Given the description of an element on the screen output the (x, y) to click on. 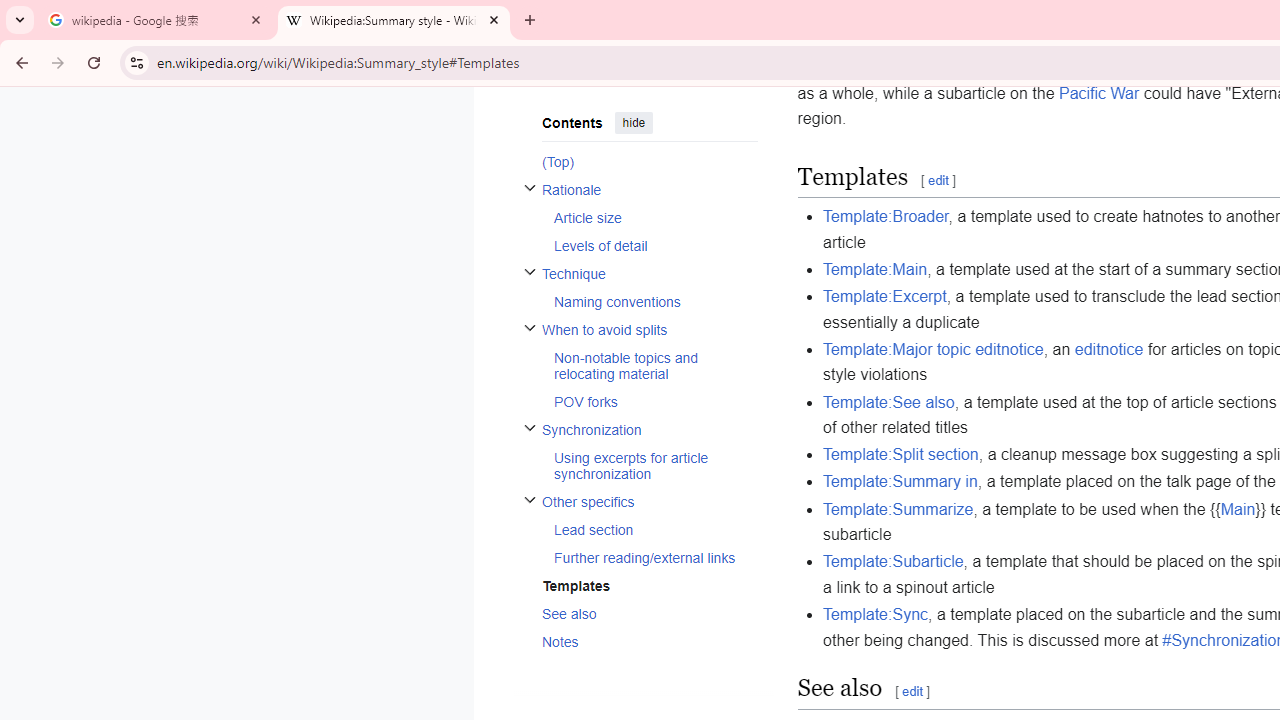
AutomationID: toc-Further_reading/external_links (649, 556)
Main (1237, 508)
AutomationID: toc-Naming_conventions (649, 301)
Notes (649, 641)
AutomationID: toc-Synchronization (642, 451)
Template:Summary in (900, 482)
AutomationID: toc-See_also (642, 613)
Template:Major topic editnotice (933, 348)
Template:Summarize (898, 508)
Rationale (649, 188)
Lead section (654, 529)
AutomationID: toc-mw-content-text (642, 160)
AutomationID: toc-Using_excerpts_for_article_synchronization (649, 465)
